Given the description of an element on the screen output the (x, y) to click on. 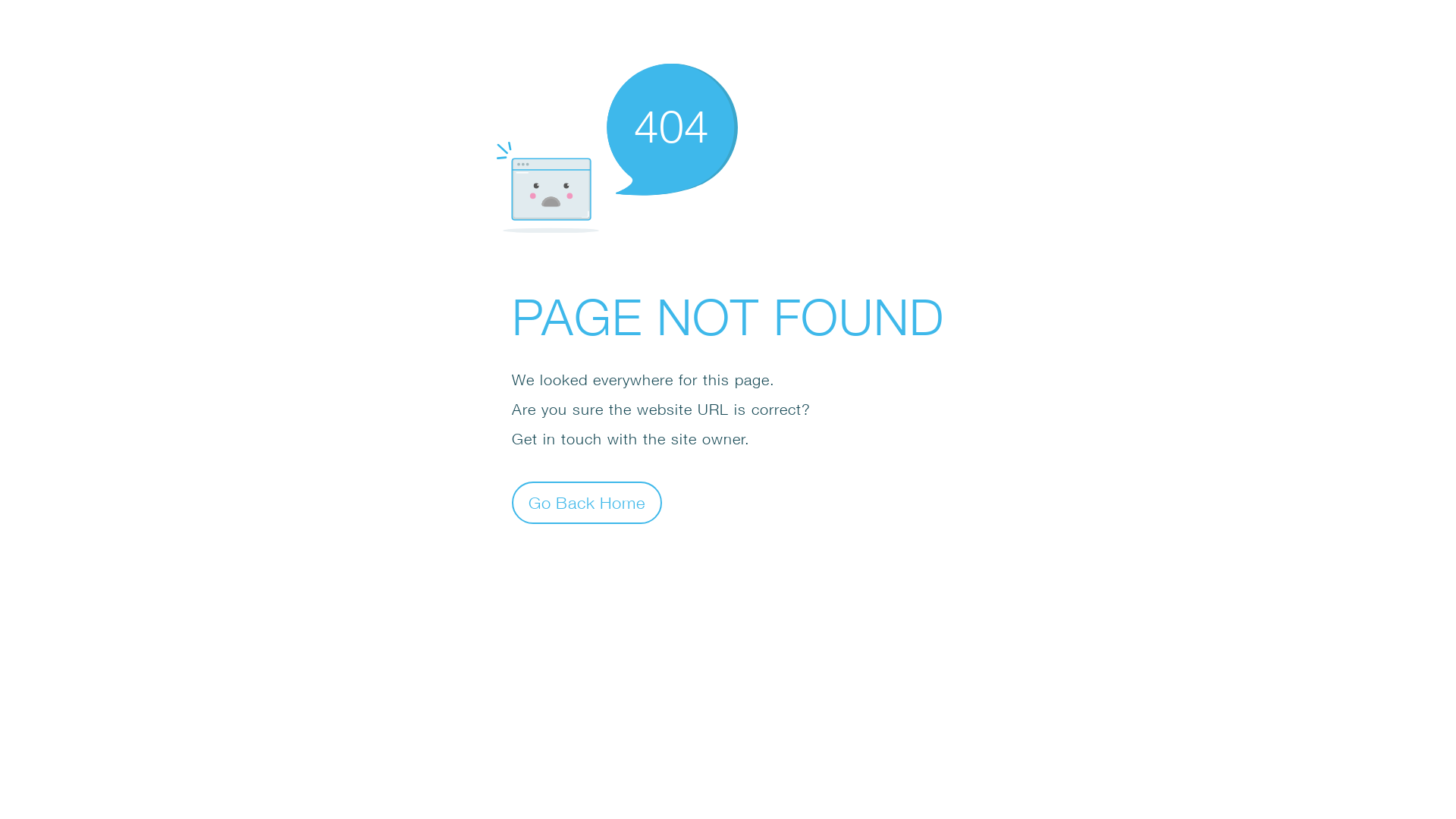
Go Back Home Element type: text (586, 502)
